Given the description of an element on the screen output the (x, y) to click on. 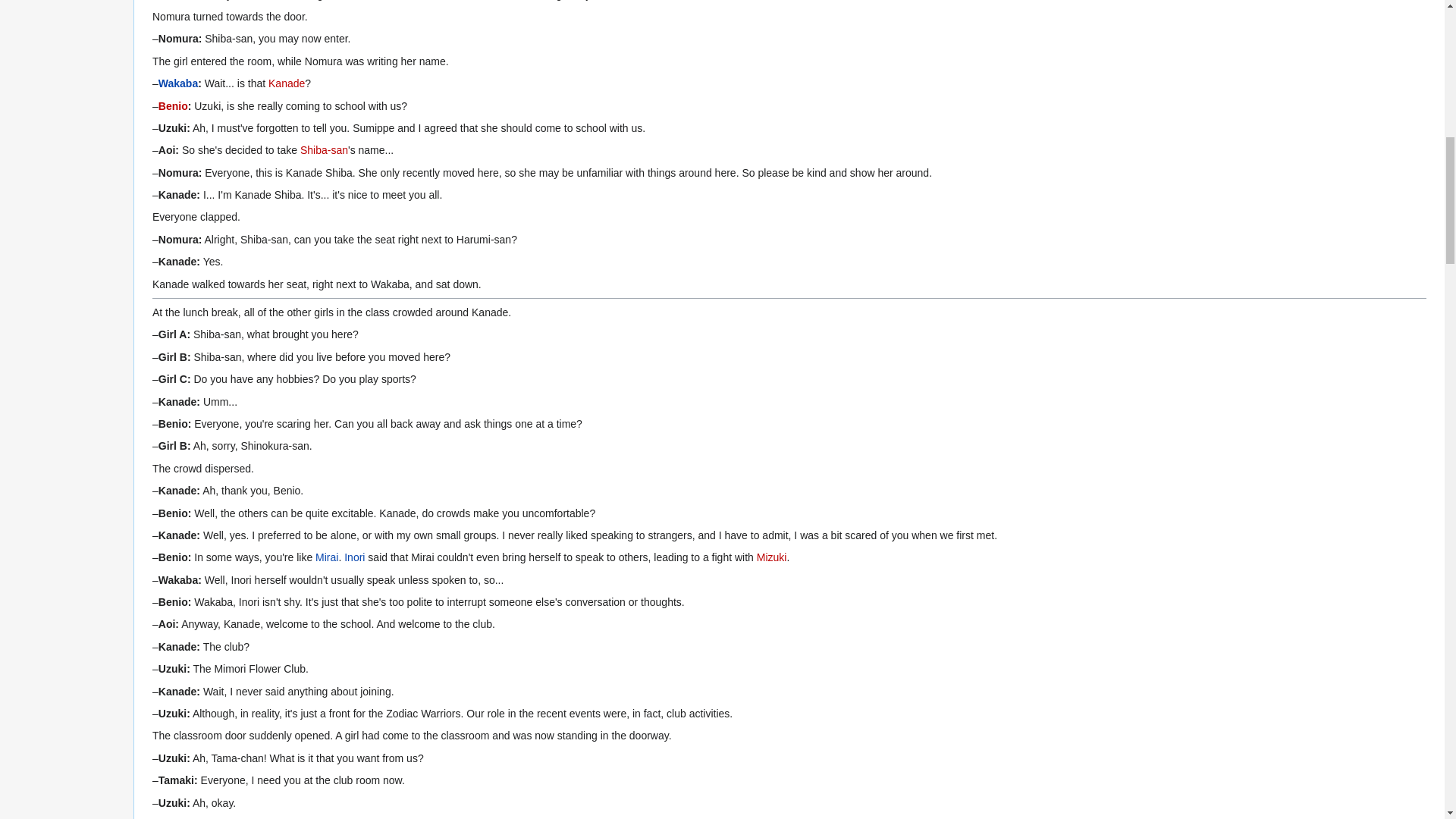
Benio (172, 105)
Kanade (285, 82)
Shiba-san (323, 150)
Wakaba (178, 82)
Mirai (326, 557)
Mizuki (772, 557)
Inori (354, 557)
